Given the description of an element on the screen output the (x, y) to click on. 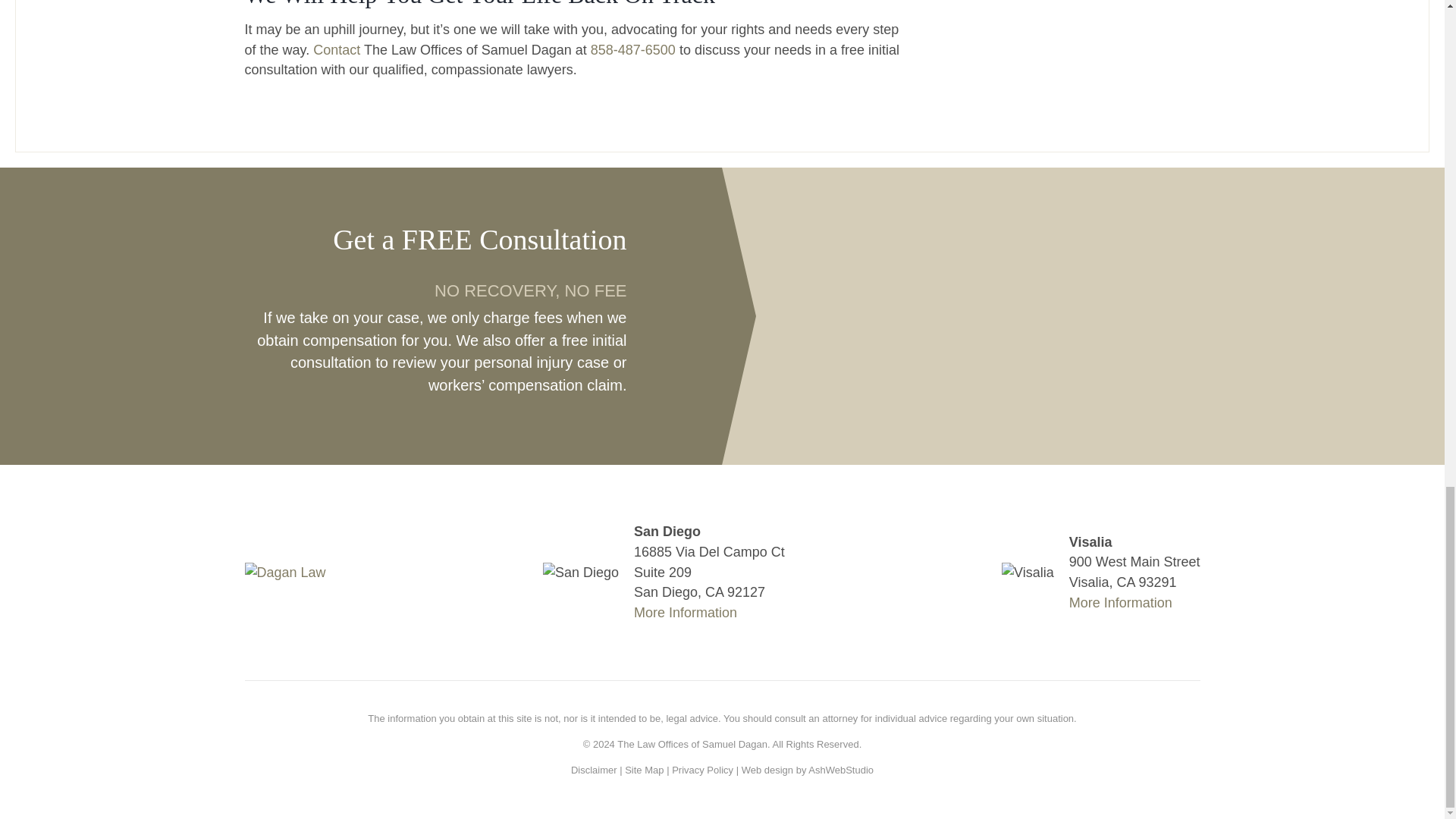
858-487-6500 (633, 49)
More Information (1120, 602)
More Information (684, 612)
Contact (336, 49)
